Given the description of an element on the screen output the (x, y) to click on. 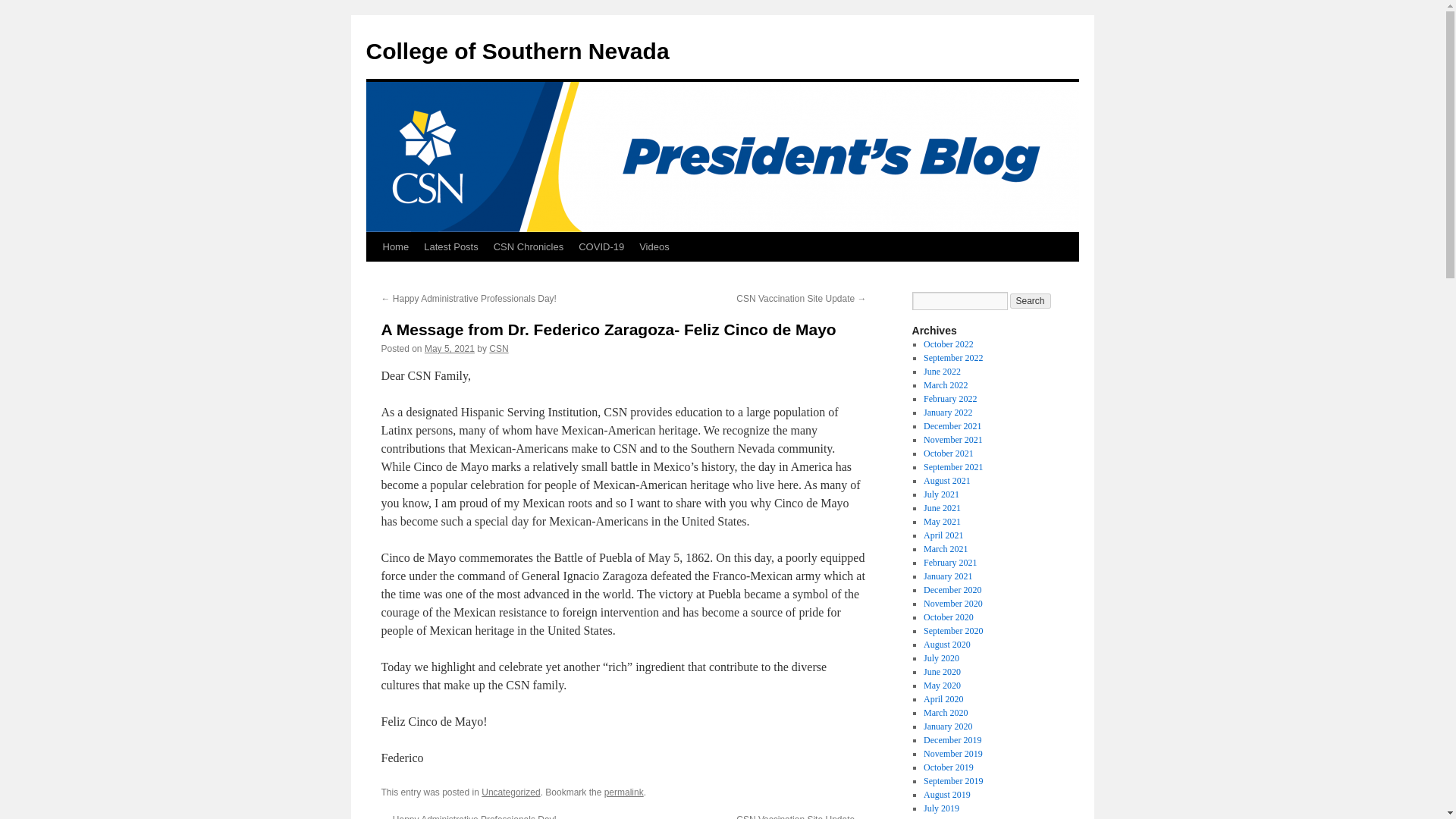
February 2022 (949, 398)
May 5, 2021 (449, 348)
11:02 am (449, 348)
Uncategorized (510, 792)
Skip to content (372, 274)
February 2021 (949, 562)
College of Southern Nevada (516, 50)
CSN Chronicles (528, 246)
View all posts by CSN (498, 348)
October 2021 (948, 452)
March 2022 (945, 385)
Search (1030, 300)
COVID-19 (600, 246)
Search (1030, 300)
September 2022 (952, 357)
